Given the description of an element on the screen output the (x, y) to click on. 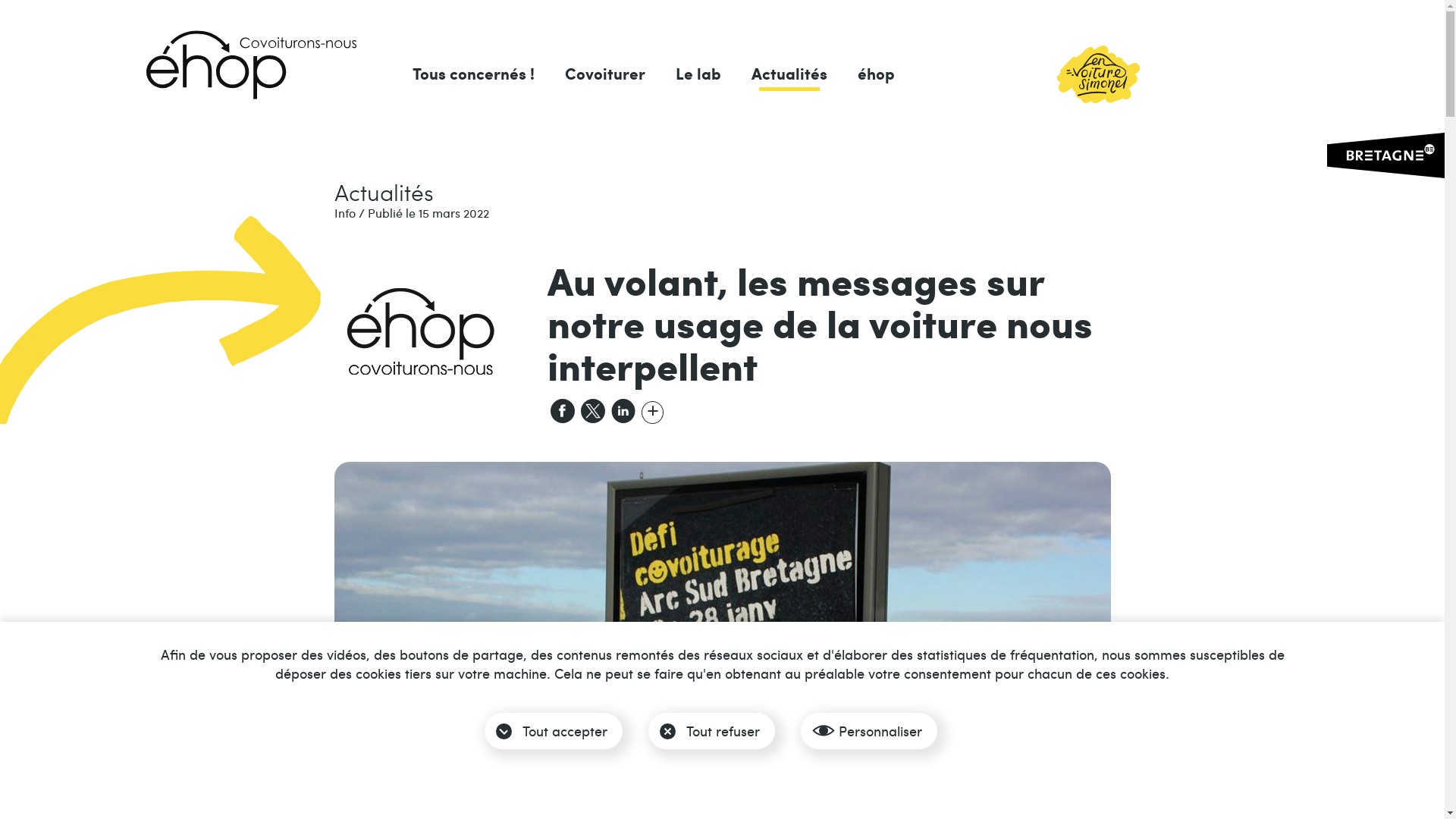
Le lab Element type: text (698, 83)
Covoiturer Element type: text (604, 83)
Tout accepter Element type: text (553, 730)
Aller au contenu principal Element type: text (0, 125)
Accueil Element type: hover (250, 64)
Personnaliser Element type: text (868, 730)
Tout refuser Element type: text (711, 730)
